Given the description of an element on the screen output the (x, y) to click on. 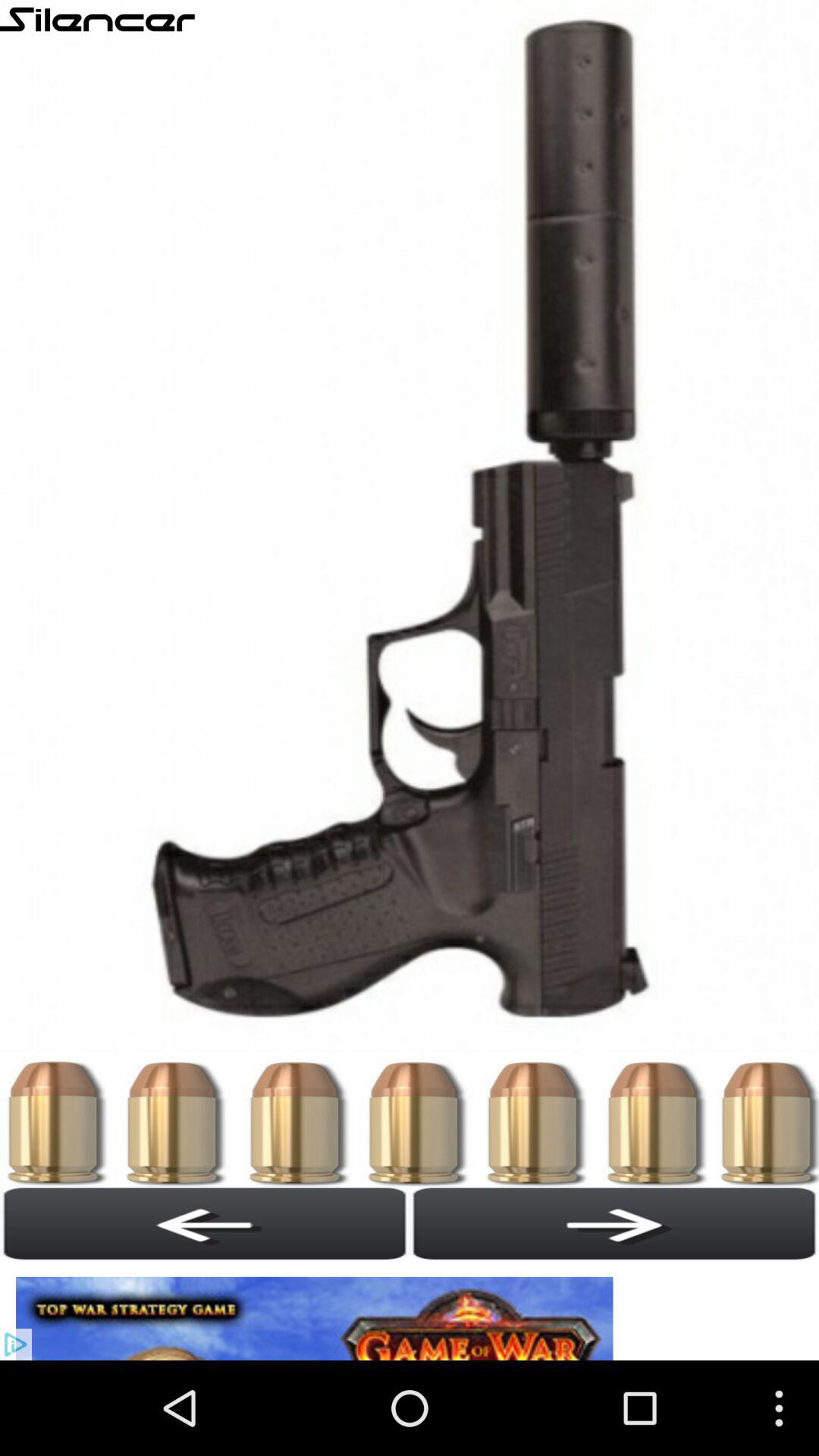
go to website (318, 1310)
